Given the description of an element on the screen output the (x, y) to click on. 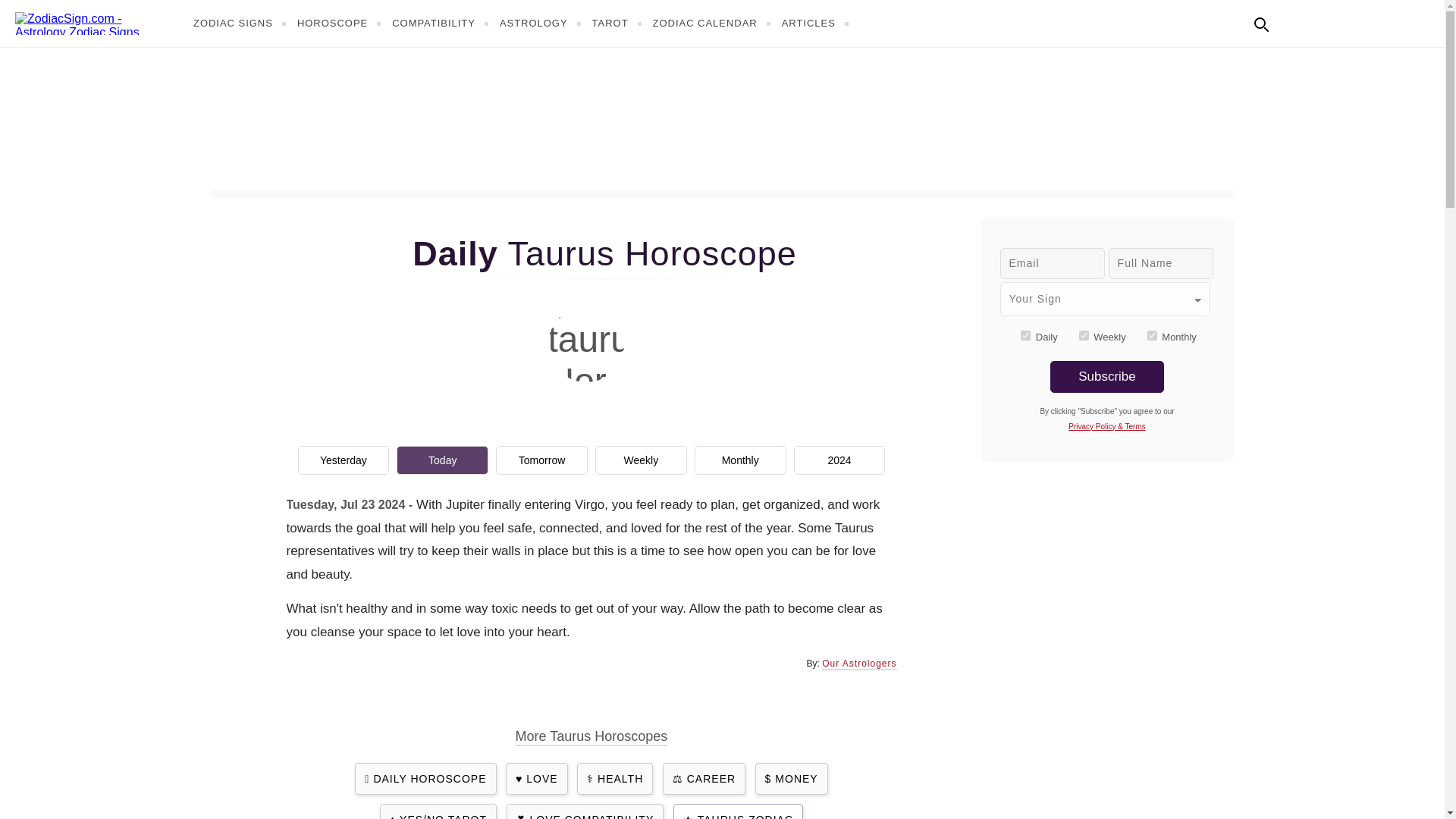
HOROSCOPE (341, 23)
monthly (1152, 335)
ZODIAC SIGNS (241, 23)
daily (1025, 335)
weekly (1083, 335)
In English (1294, 21)
